Given the description of an element on the screen output the (x, y) to click on. 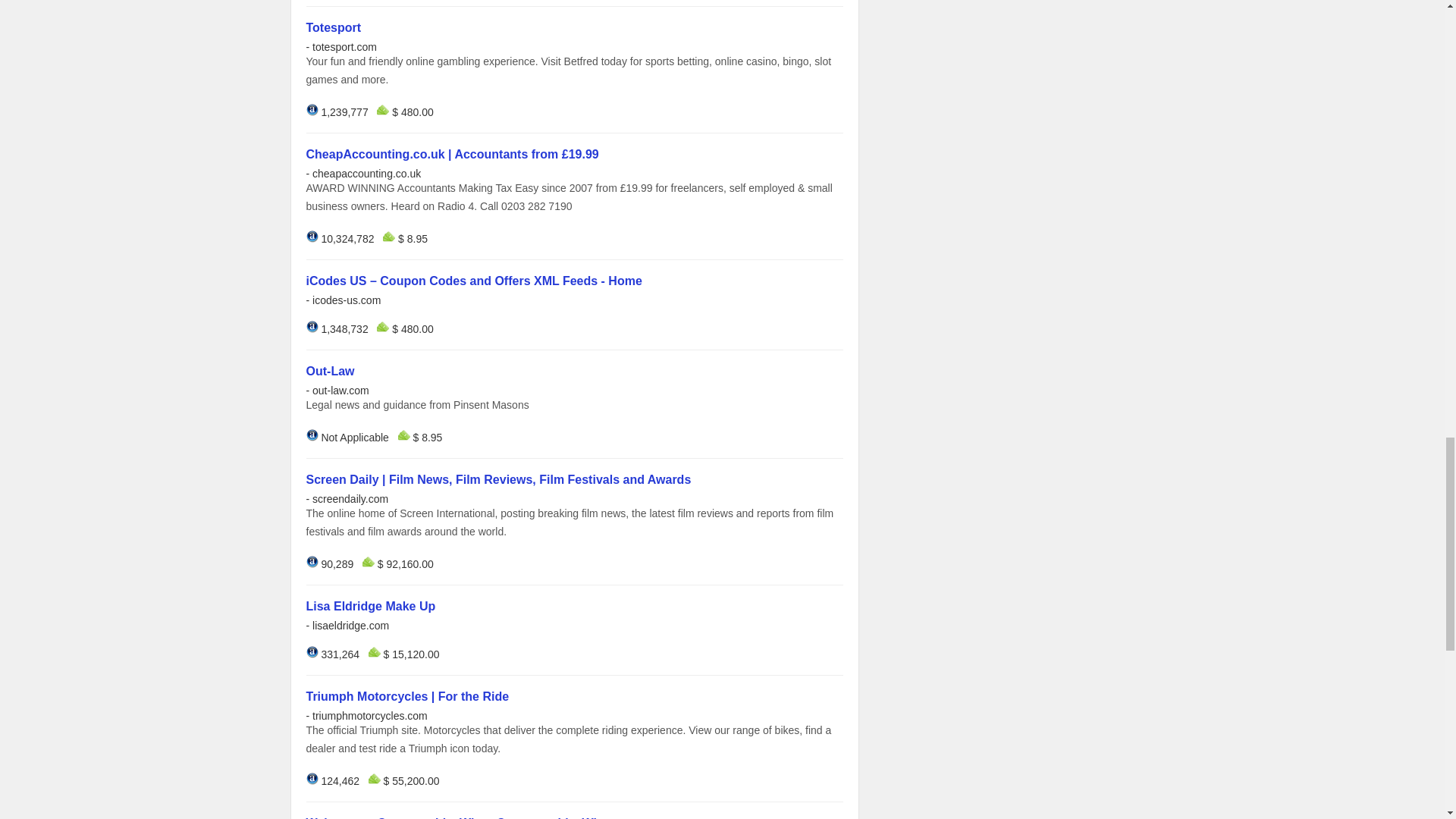
Totesport (333, 27)
Out-Law (330, 370)
Lisa Eldridge Make Up (370, 605)
